Given the description of an element on the screen output the (x, y) to click on. 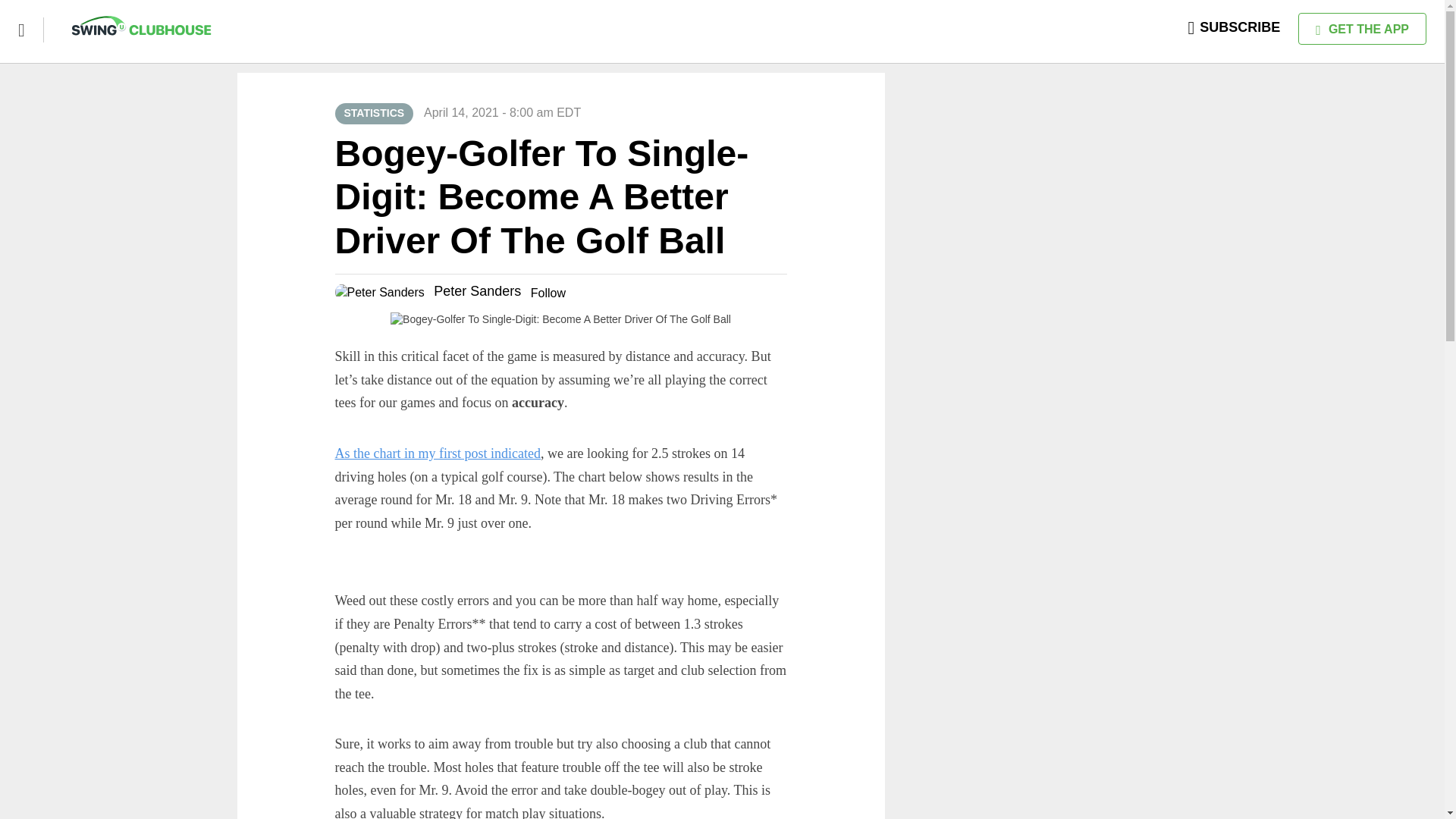
GET THE APP (1362, 29)
Peter Sanders (477, 290)
As the chart in my first post indicated (437, 453)
SUBSCRIBE (1234, 27)
Follow (548, 292)
